Given the description of an element on the screen output the (x, y) to click on. 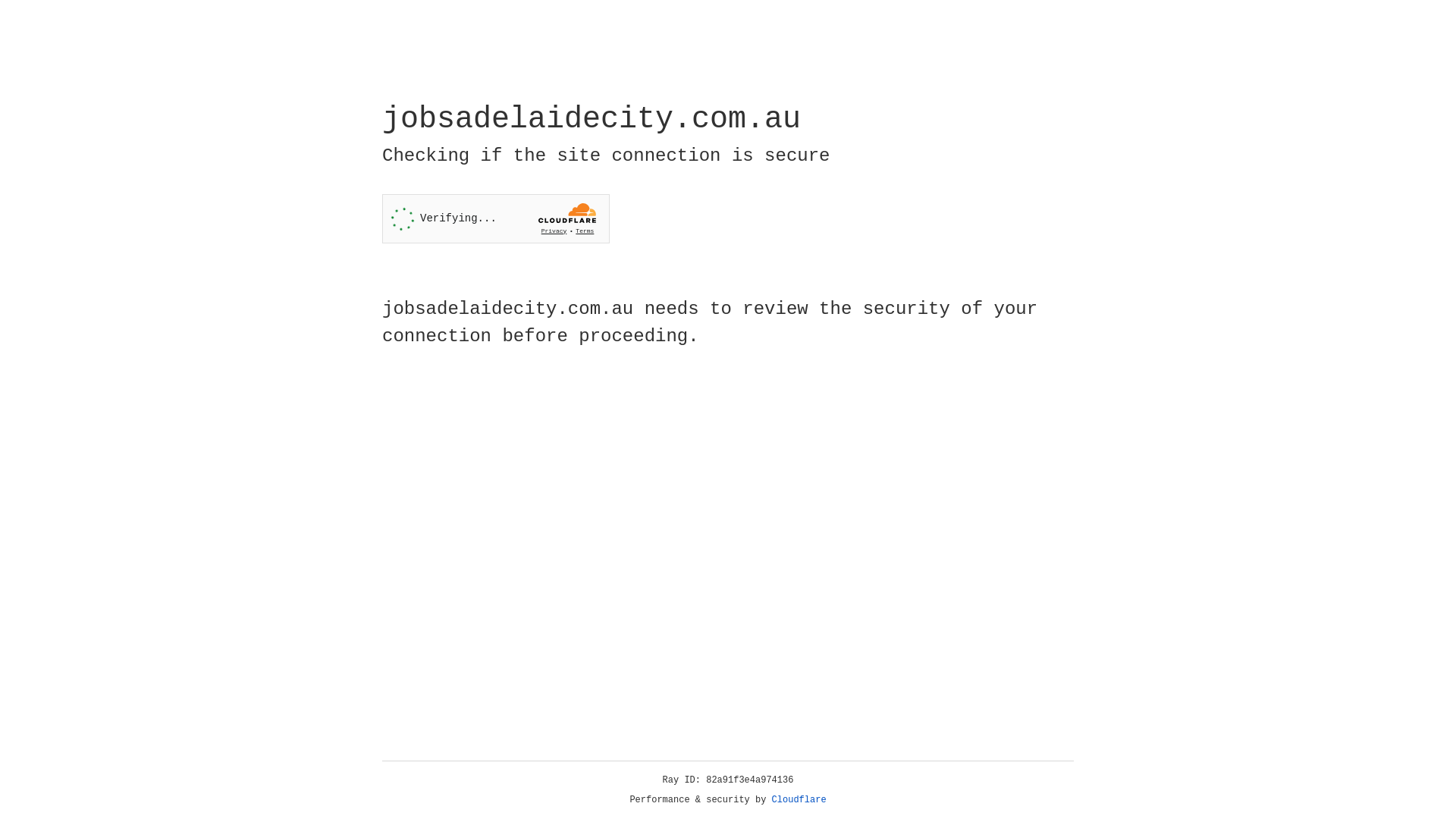
Widget containing a Cloudflare security challenge Element type: hover (495, 218)
Cloudflare Element type: text (798, 799)
